Given the description of an element on the screen output the (x, y) to click on. 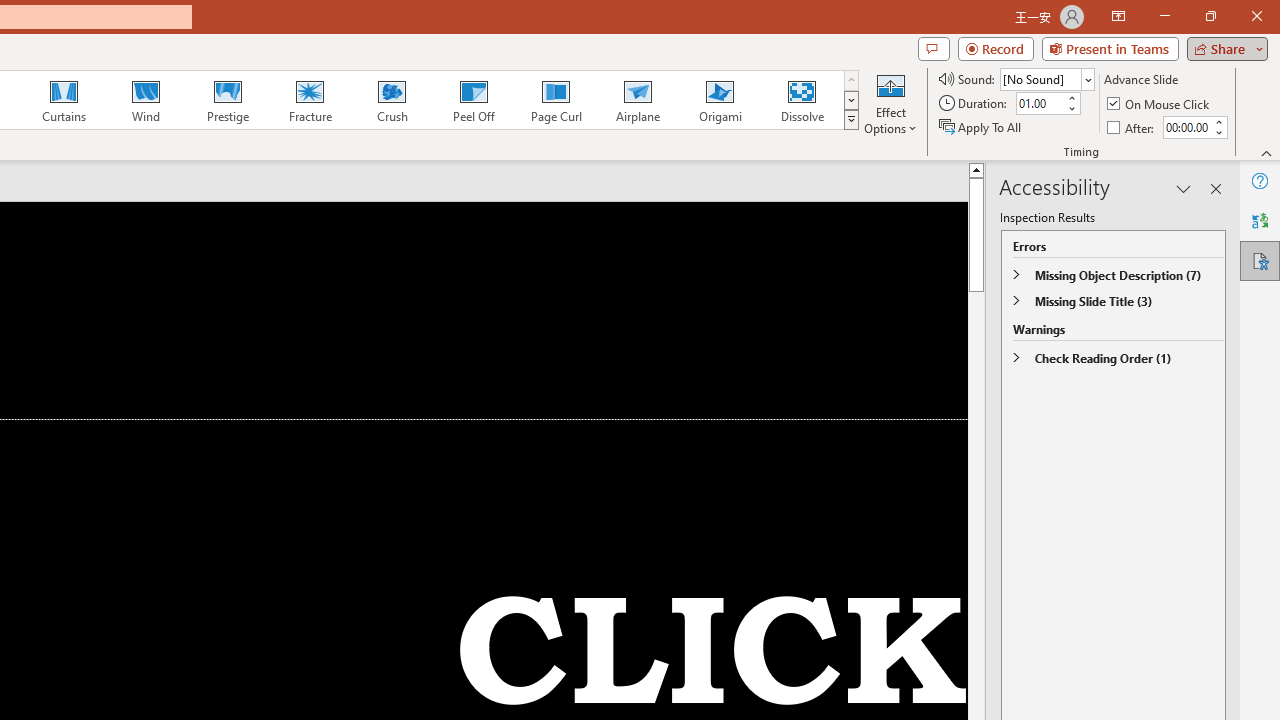
Dissolve (802, 100)
Apply To All (981, 126)
Row up (850, 79)
After (1186, 127)
Peel Off (473, 100)
Transition Effects (850, 120)
Curtains (63, 100)
Origami (719, 100)
Line up (976, 169)
